Given the description of an element on the screen output the (x, y) to click on. 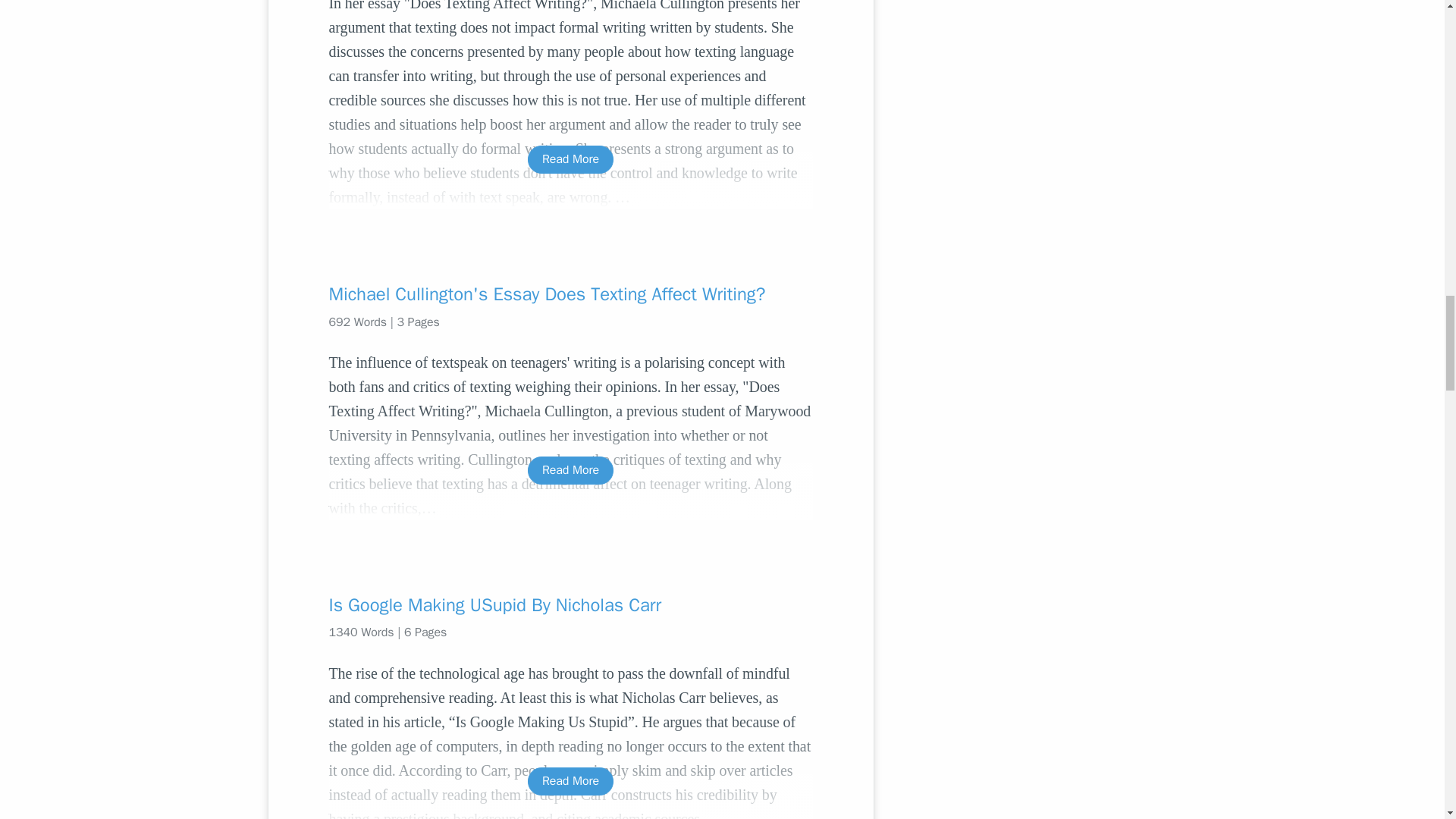
Read More (569, 159)
Read More (569, 781)
Read More (569, 470)
Michael Cullington's Essay Does Texting Affect Writing? (570, 293)
Is Google Making USupid By Nicholas Carr (570, 604)
